Given the description of an element on the screen output the (x, y) to click on. 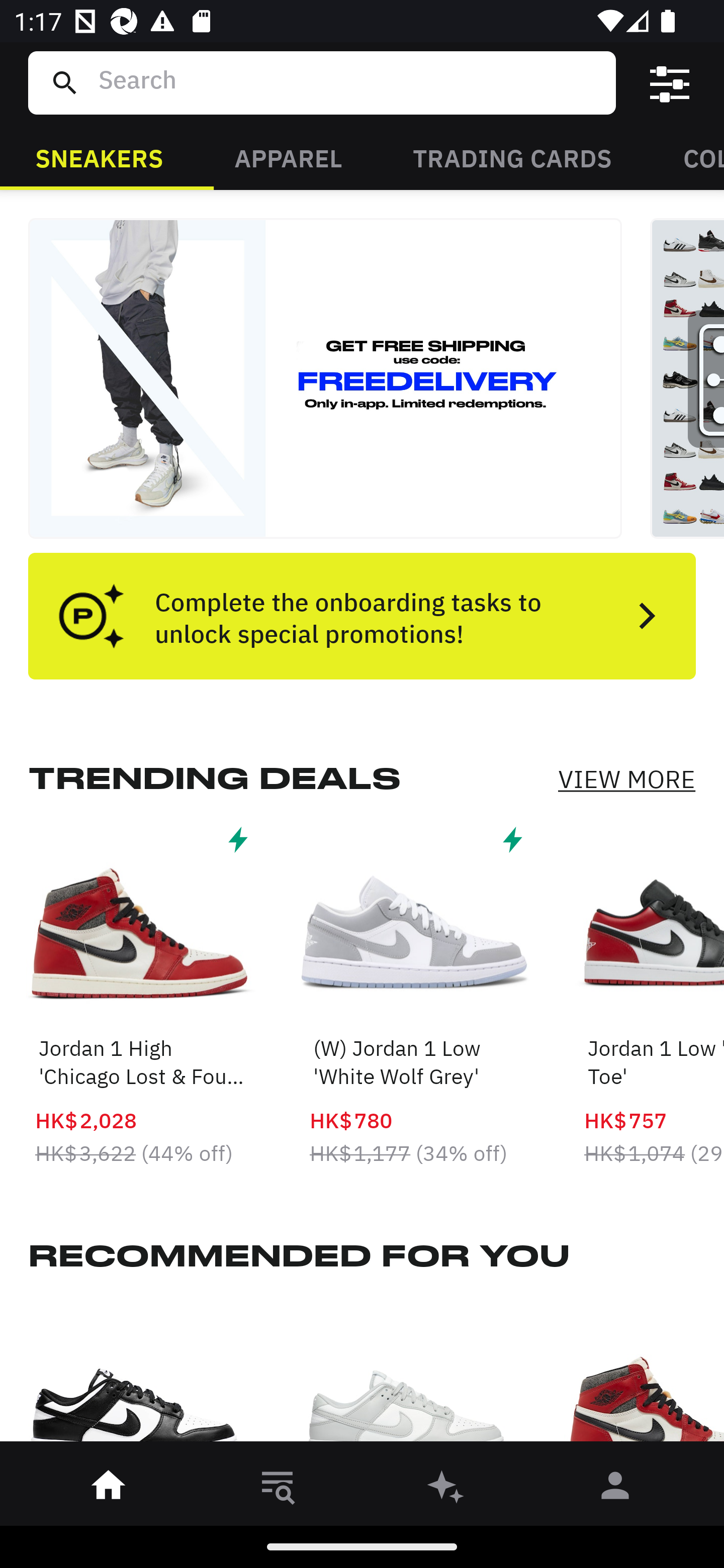
Search (349, 82)
 (669, 82)
SNEAKERS (99, 156)
APPAREL (287, 156)
TRADING CARDS (512, 156)
VIEW MORE (626, 779)
󰋜 (108, 1488)
󱎸 (277, 1488)
󰫢 (446, 1488)
󰀄 (615, 1488)
